Given the description of an element on the screen output the (x, y) to click on. 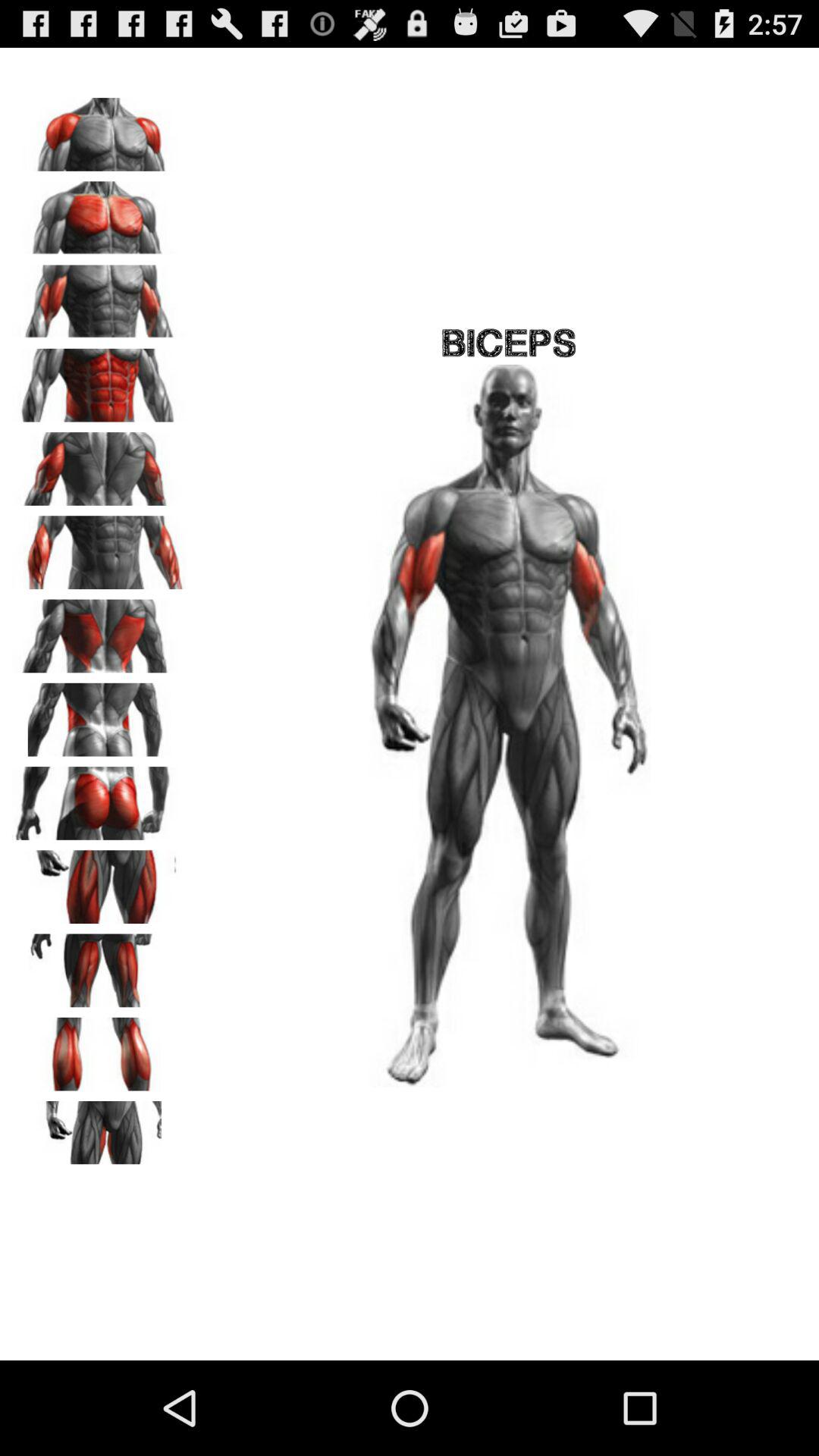
body image (99, 296)
